Given the description of an element on the screen output the (x, y) to click on. 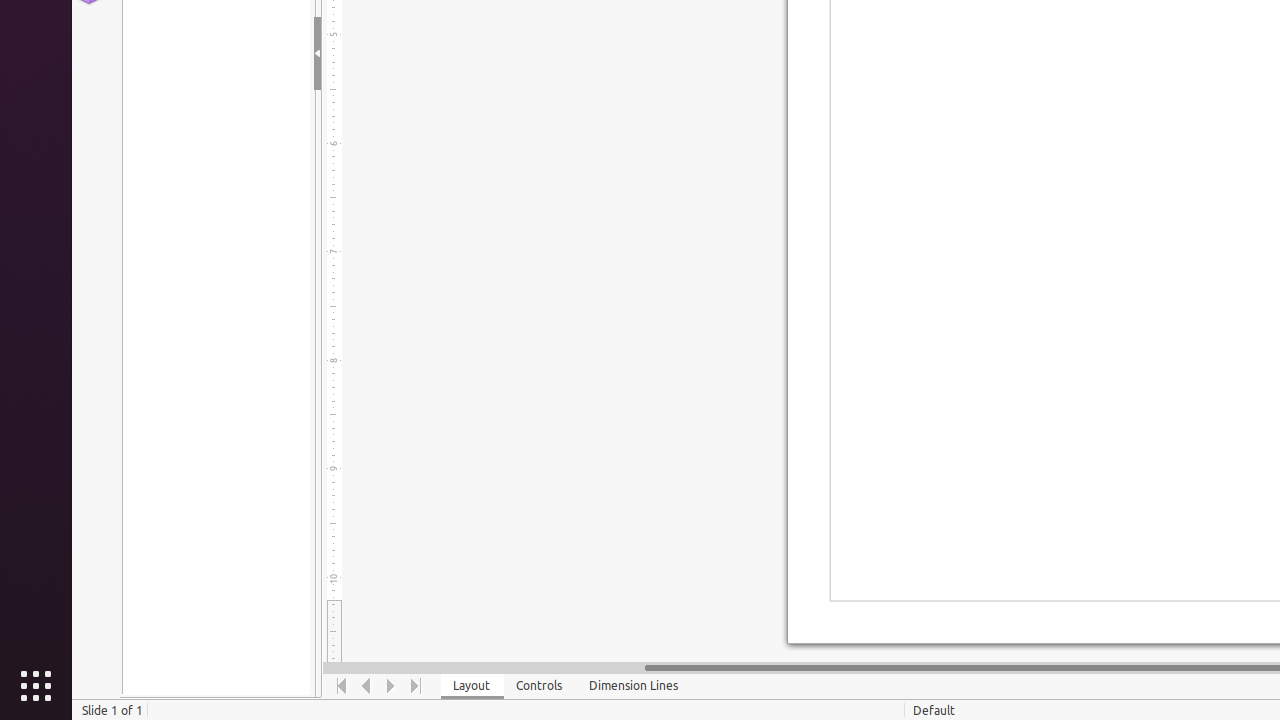
Move Right Element type: push-button (391, 686)
Move To End Element type: push-button (416, 686)
Layout Element type: page-tab (472, 686)
Move Left Element type: push-button (366, 686)
Move To Home Element type: push-button (341, 686)
